Given the description of an element on the screen output the (x, y) to click on. 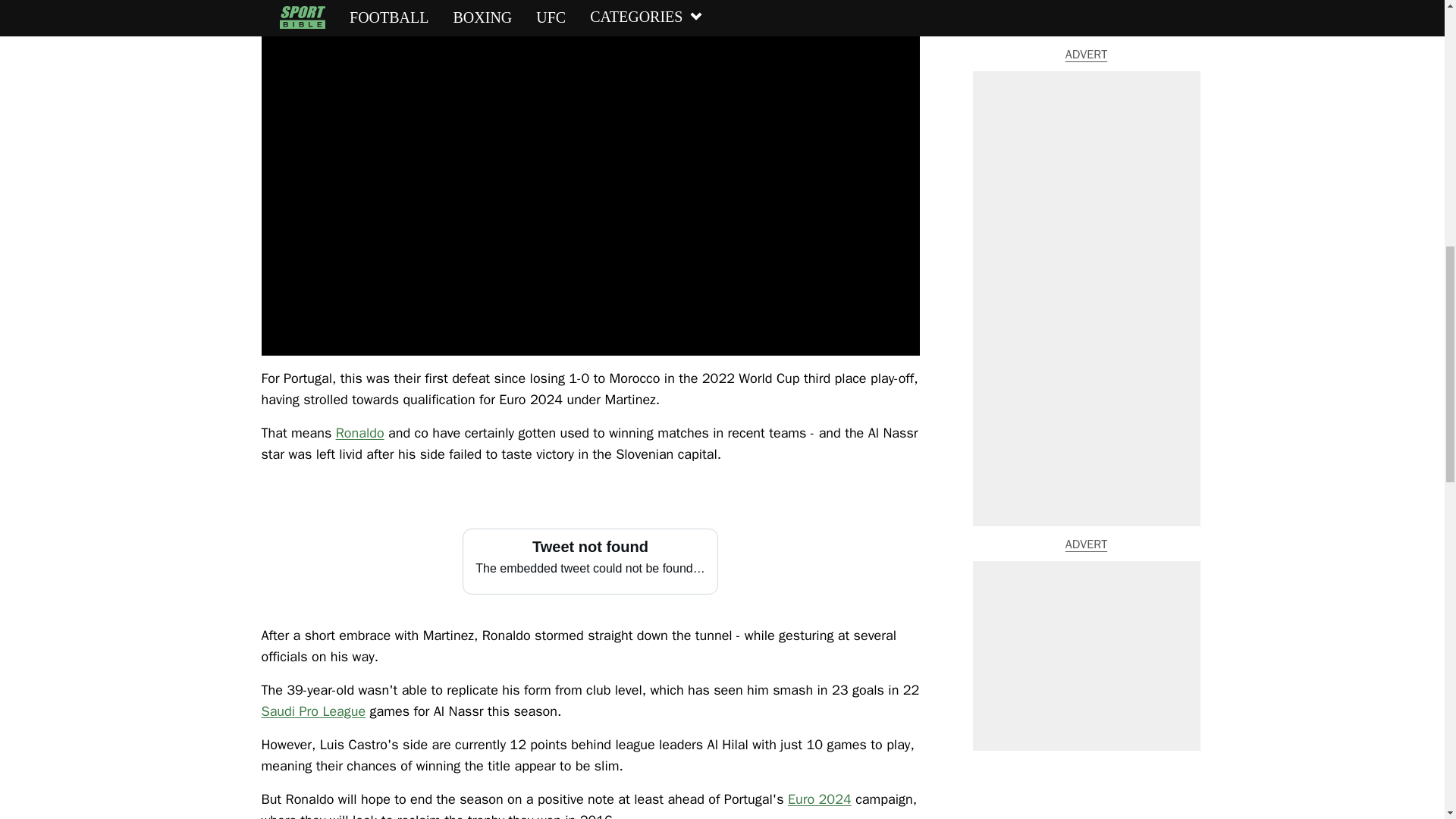
3rd party ad content (1085, 78)
